Given the description of an element on the screen output the (x, y) to click on. 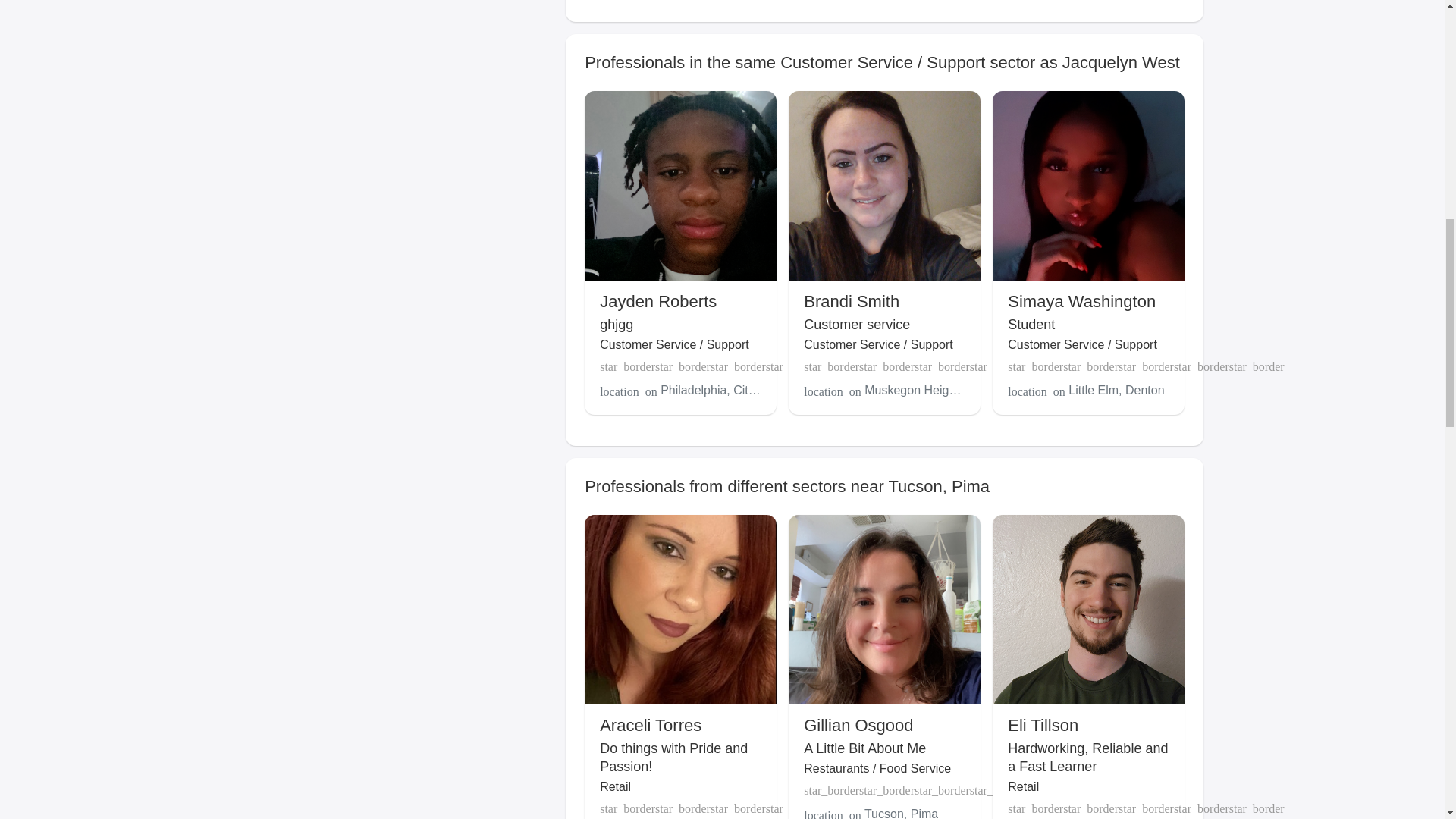
Simaya Washington (1081, 301)
Brandi Smith (851, 301)
Gillian Osgood (857, 724)
Gillian Osgood (857, 724)
Eli Tillson (1042, 724)
Jayden Roberts (657, 301)
Araceli Torres (650, 724)
Jayden Roberts (657, 301)
Araceli Torres (650, 724)
Eli Tillson (1042, 724)
